Given the description of an element on the screen output the (x, y) to click on. 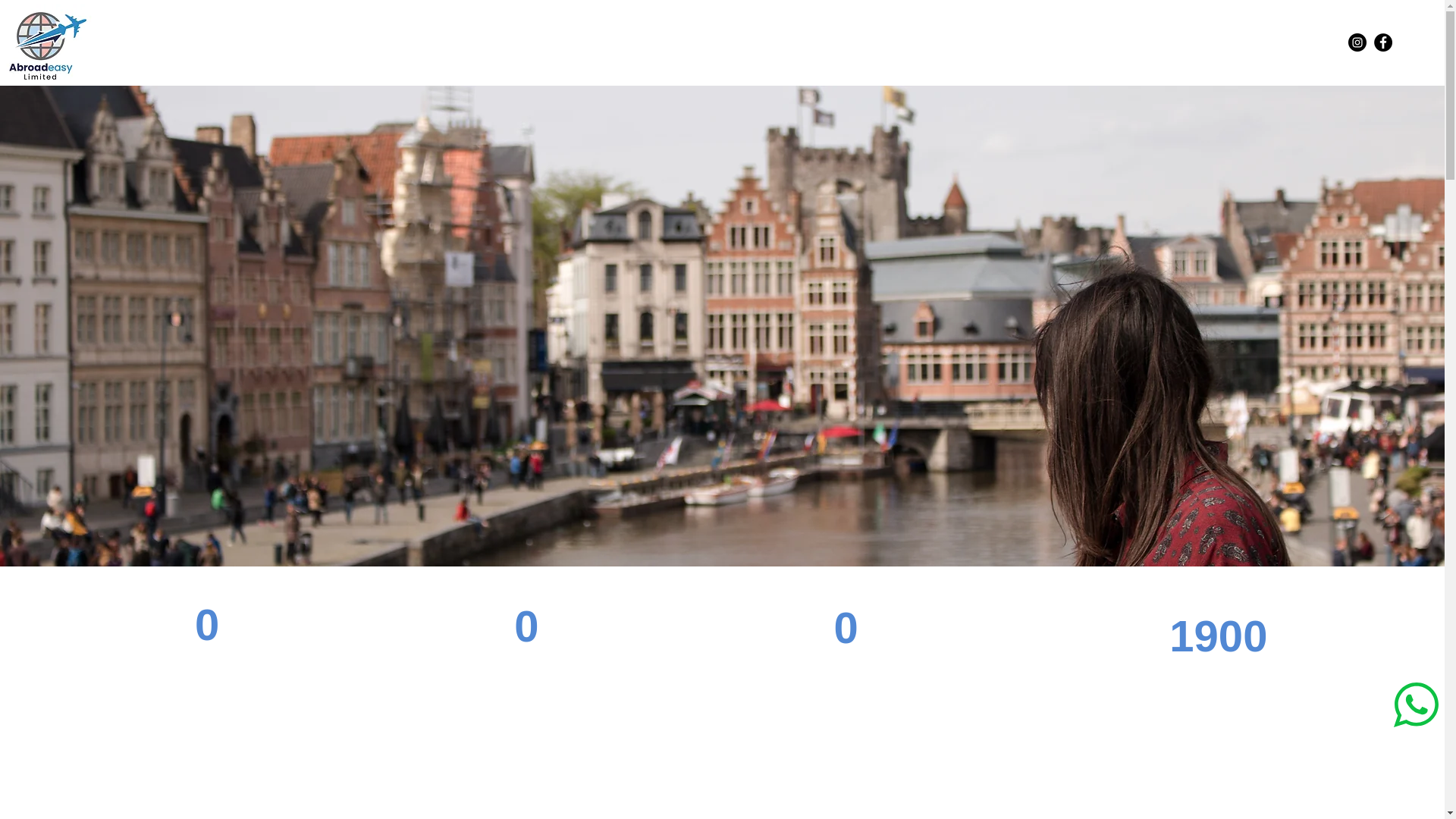
Abroad easy limited (47, 44)
